Given the description of an element on the screen output the (x, y) to click on. 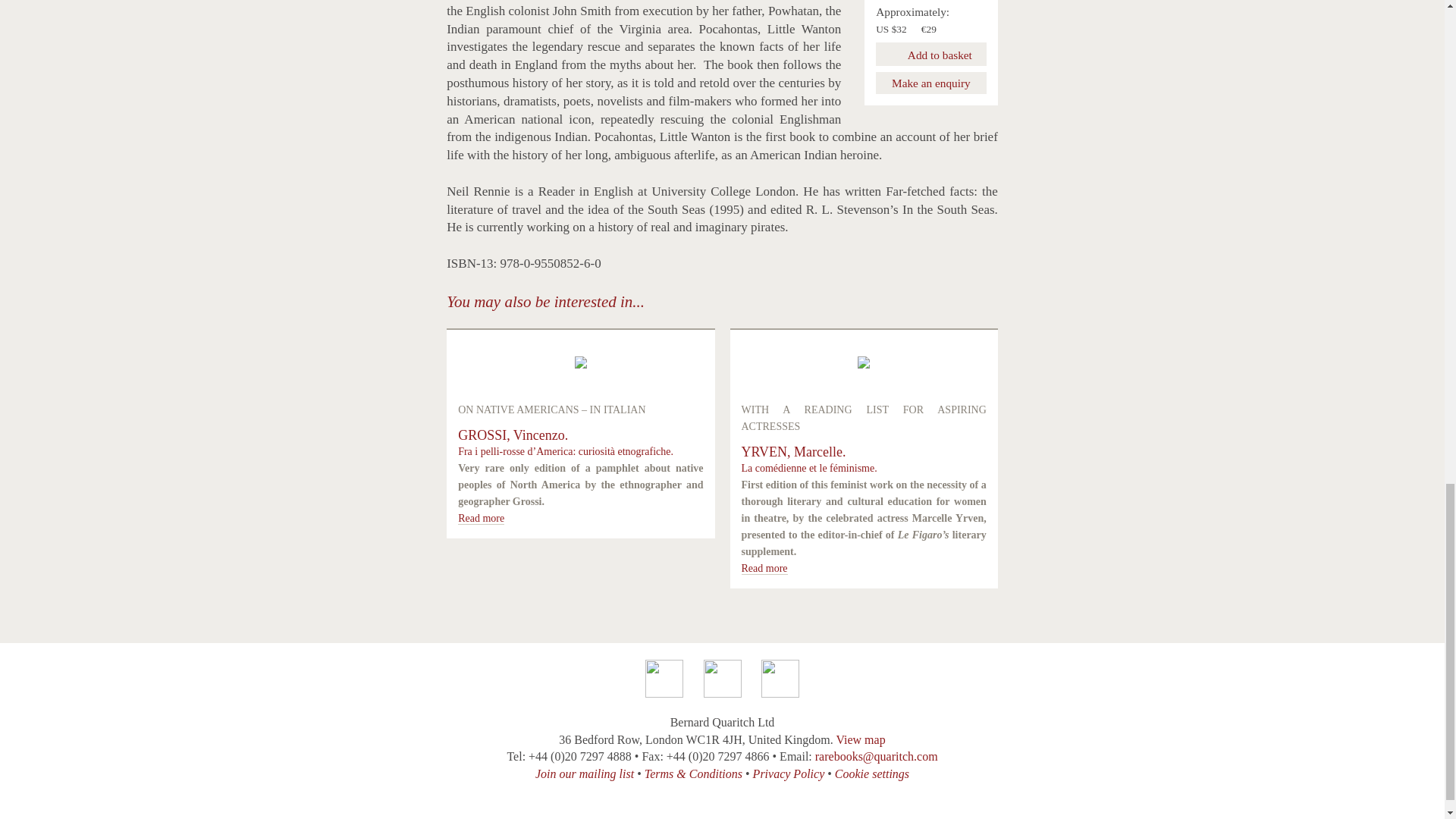
Read more (480, 518)
Add to basket (930, 54)
Read more (764, 568)
Make an enquiry (930, 83)
